Given the description of an element on the screen output the (x, y) to click on. 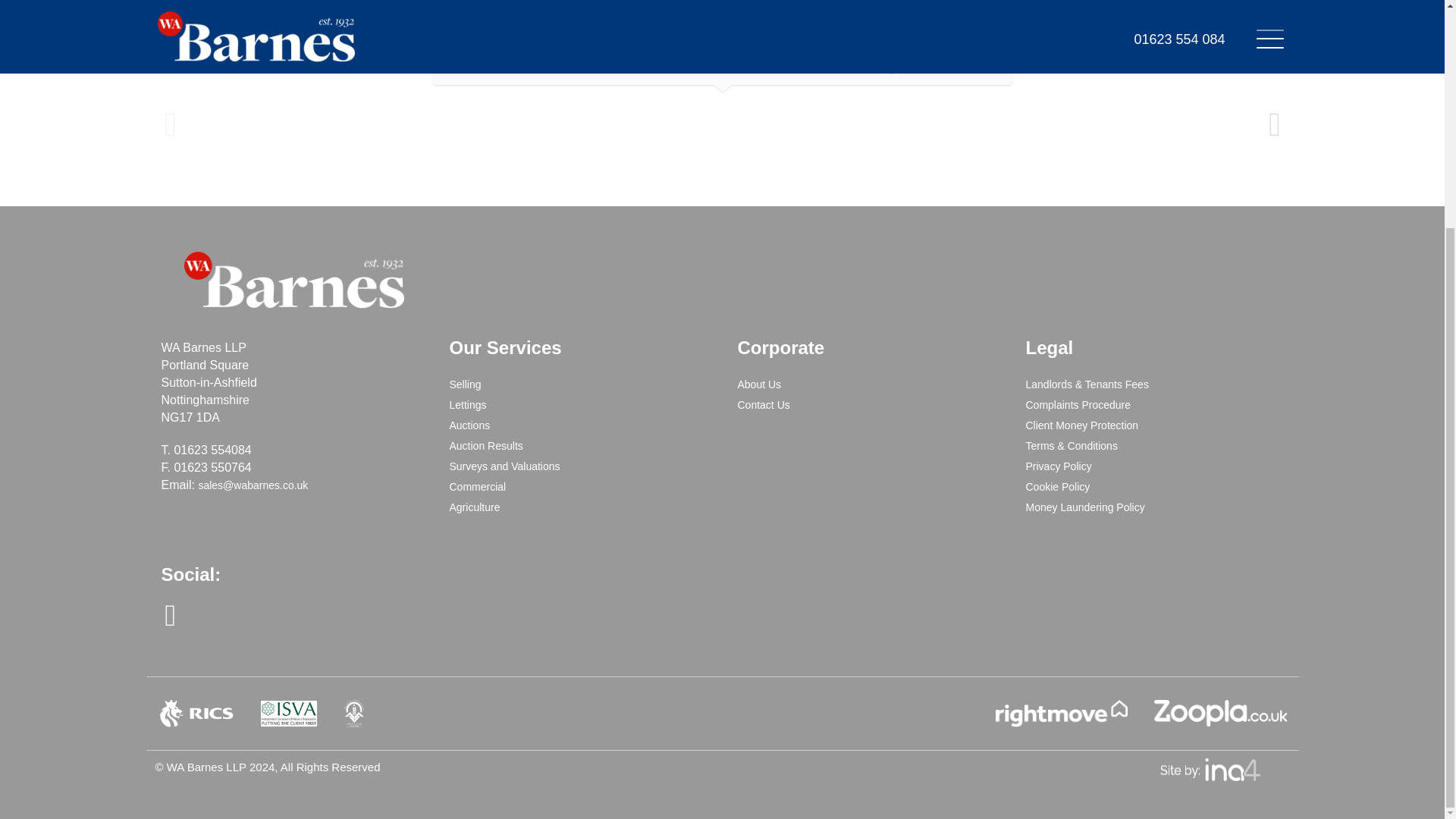
Complaints Procedure (1078, 404)
Money Laundering Policy (1084, 507)
Privacy Policy (1057, 466)
Commercial (476, 486)
Client Money Protection (1081, 425)
Auctions (468, 425)
01623 554084 (211, 449)
Contact Us (762, 404)
Agriculture (473, 507)
Surveys and Valuations (503, 466)
Selling (464, 384)
Lettings (467, 404)
About Us (758, 384)
Auction Results (485, 445)
Reviews Carousel Widget (721, 83)
